Given the description of an element on the screen output the (x, y) to click on. 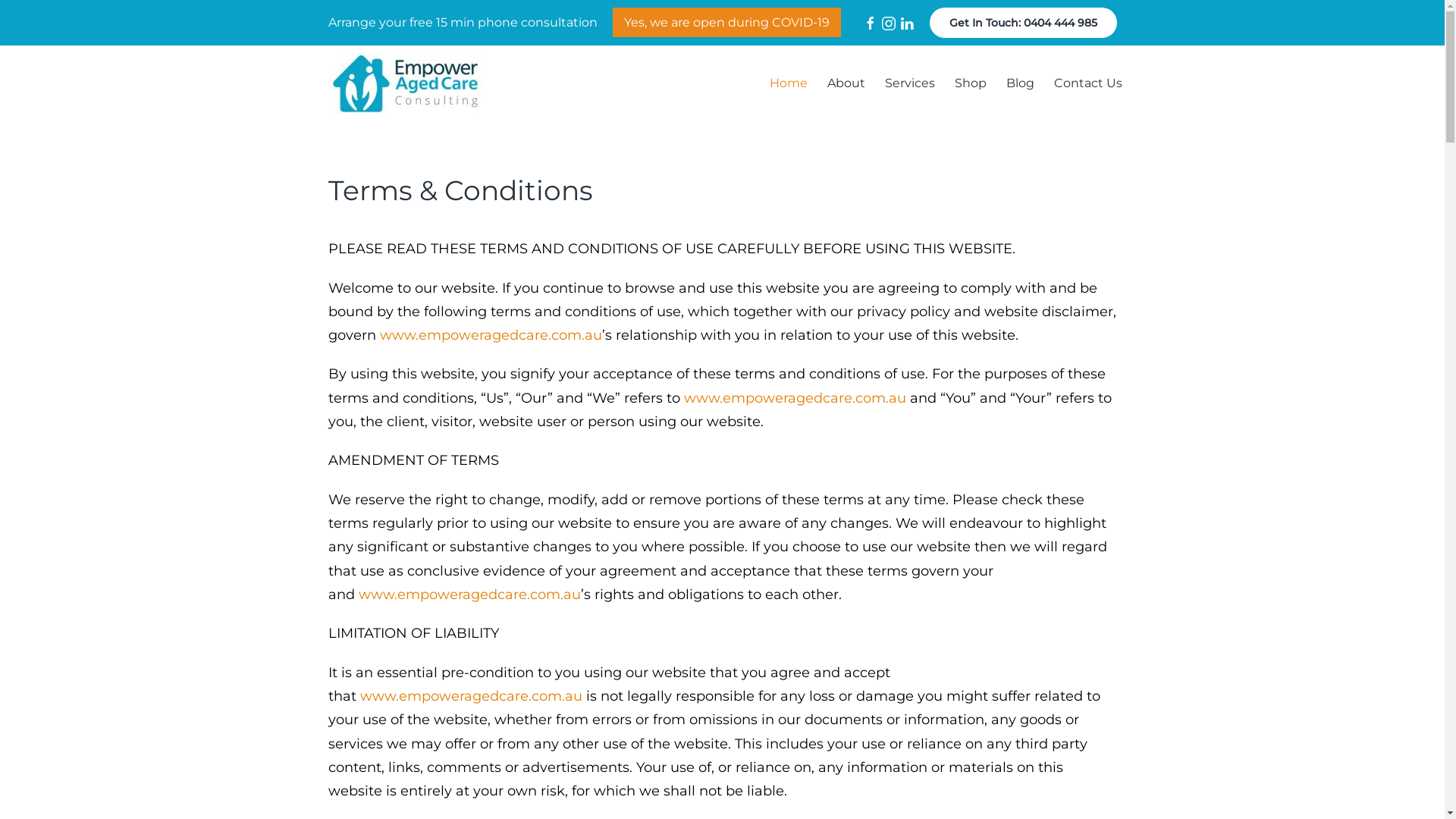
www.empoweragedcare.com.au Element type: text (468, 594)
Services Element type: text (909, 83)
Blog Element type: text (1020, 83)
About Element type: text (846, 83)
Shop Element type: text (970, 83)
Arrange your free 15 min phone consultation Element type: text (461, 22)
www.empoweragedcare.com.au Element type: text (470, 695)
www.empoweragedcare.com.au Element type: text (490, 334)
Home Element type: text (788, 83)
www.empoweragedcare.com.au Element type: text (795, 397)
Contact Us Element type: text (1087, 83)
Get In Touch: 0404 444 985 Element type: text (1023, 22)
